Given the description of an element on the screen output the (x, y) to click on. 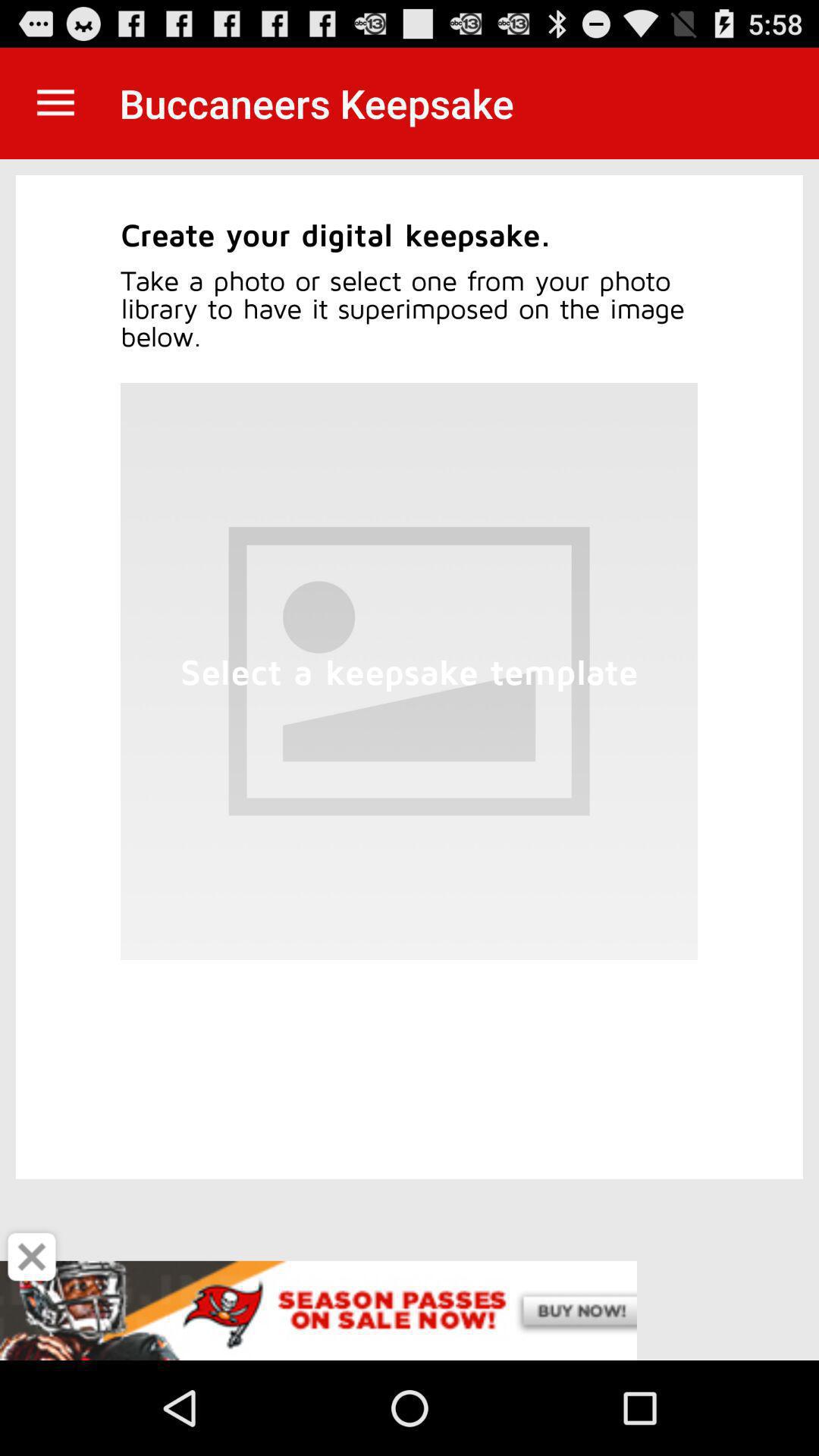
select the blank box which is at the center of the page (408, 670)
select the image which is at bottom (408, 670)
